Given the description of an element on the screen output the (x, y) to click on. 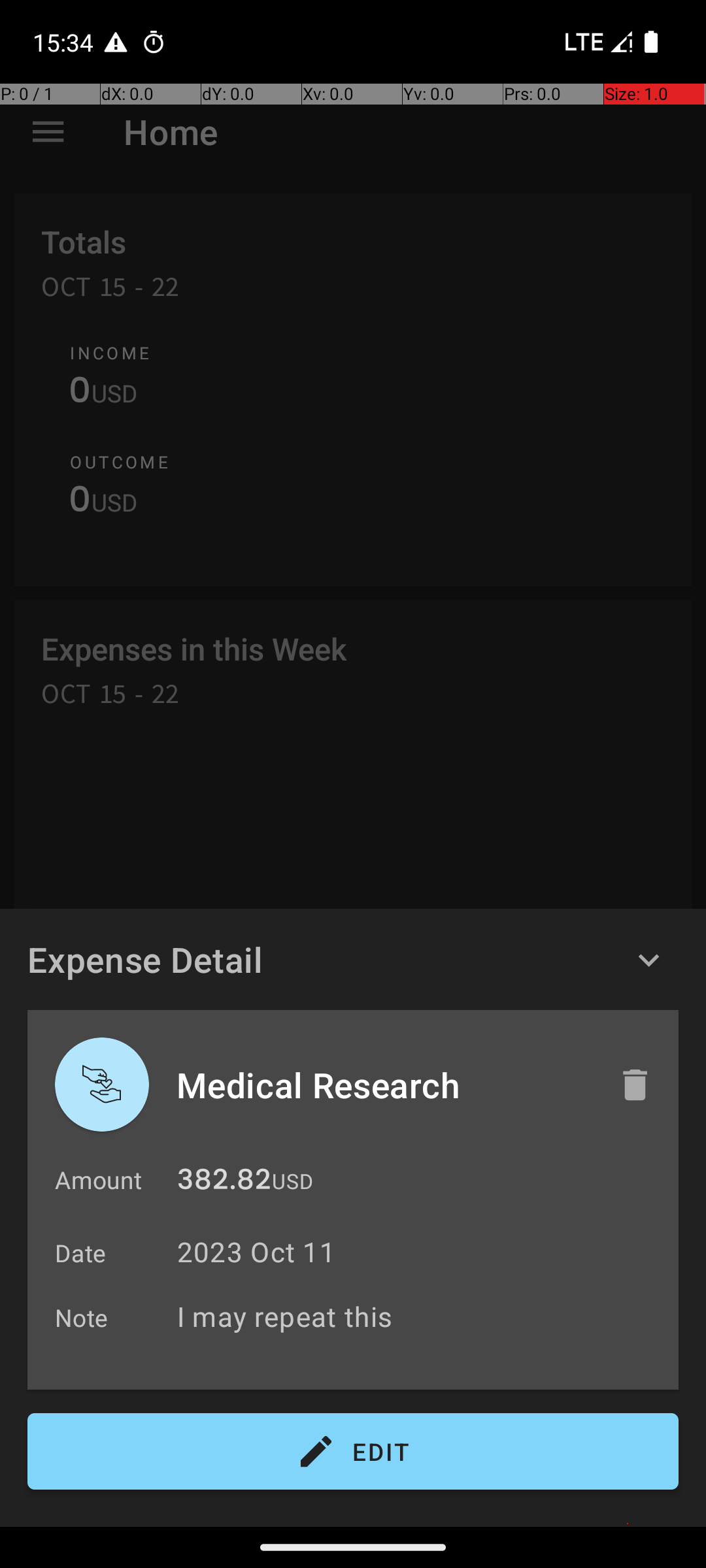
Medical Research Element type: android.widget.TextView (383, 1084)
382.82 Element type: android.widget.TextView (223, 1182)
